Given the description of an element on the screen output the (x, y) to click on. 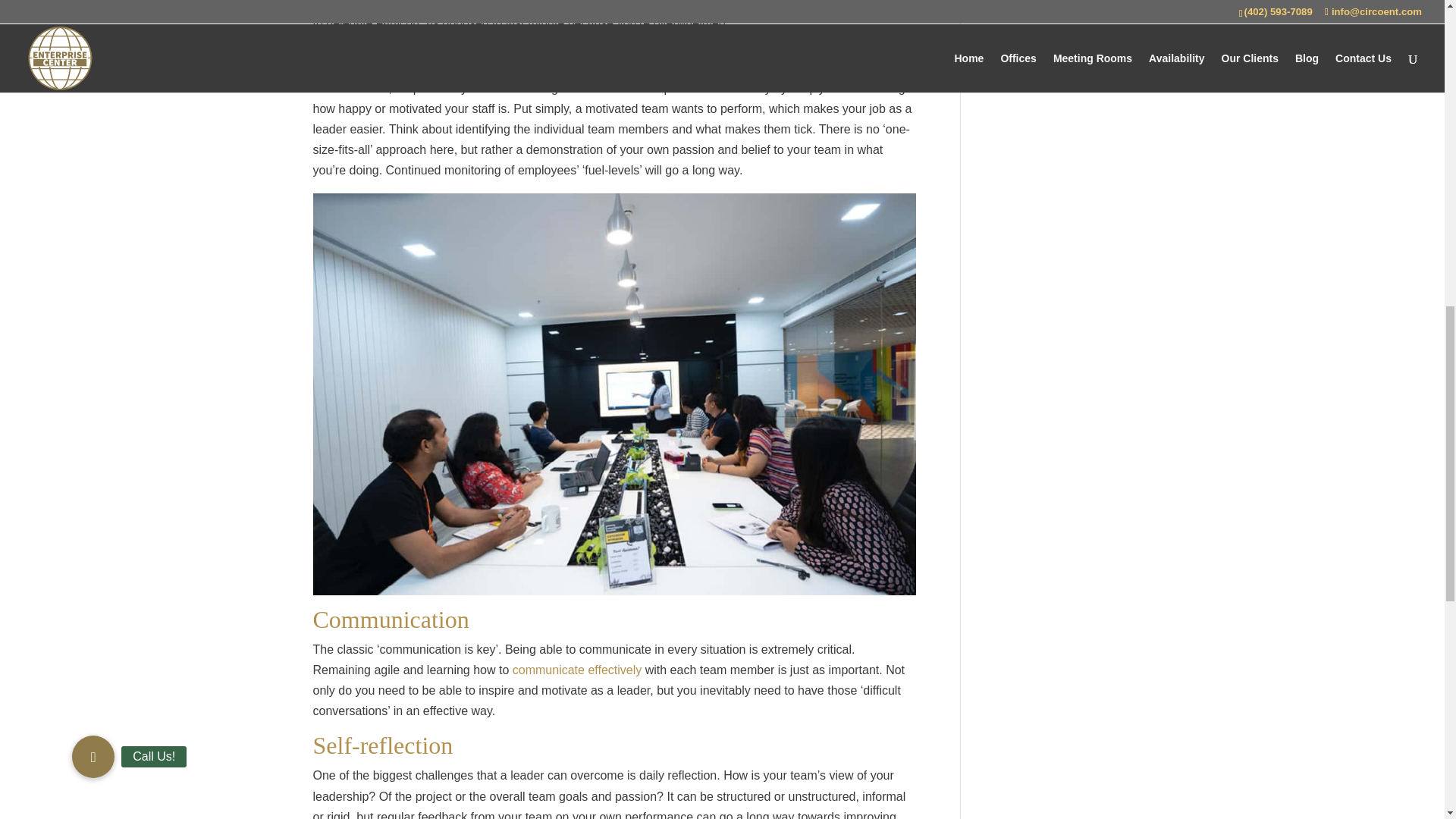
communicate effectively (577, 669)
business (364, 88)
